Given the description of an element on the screen output the (x, y) to click on. 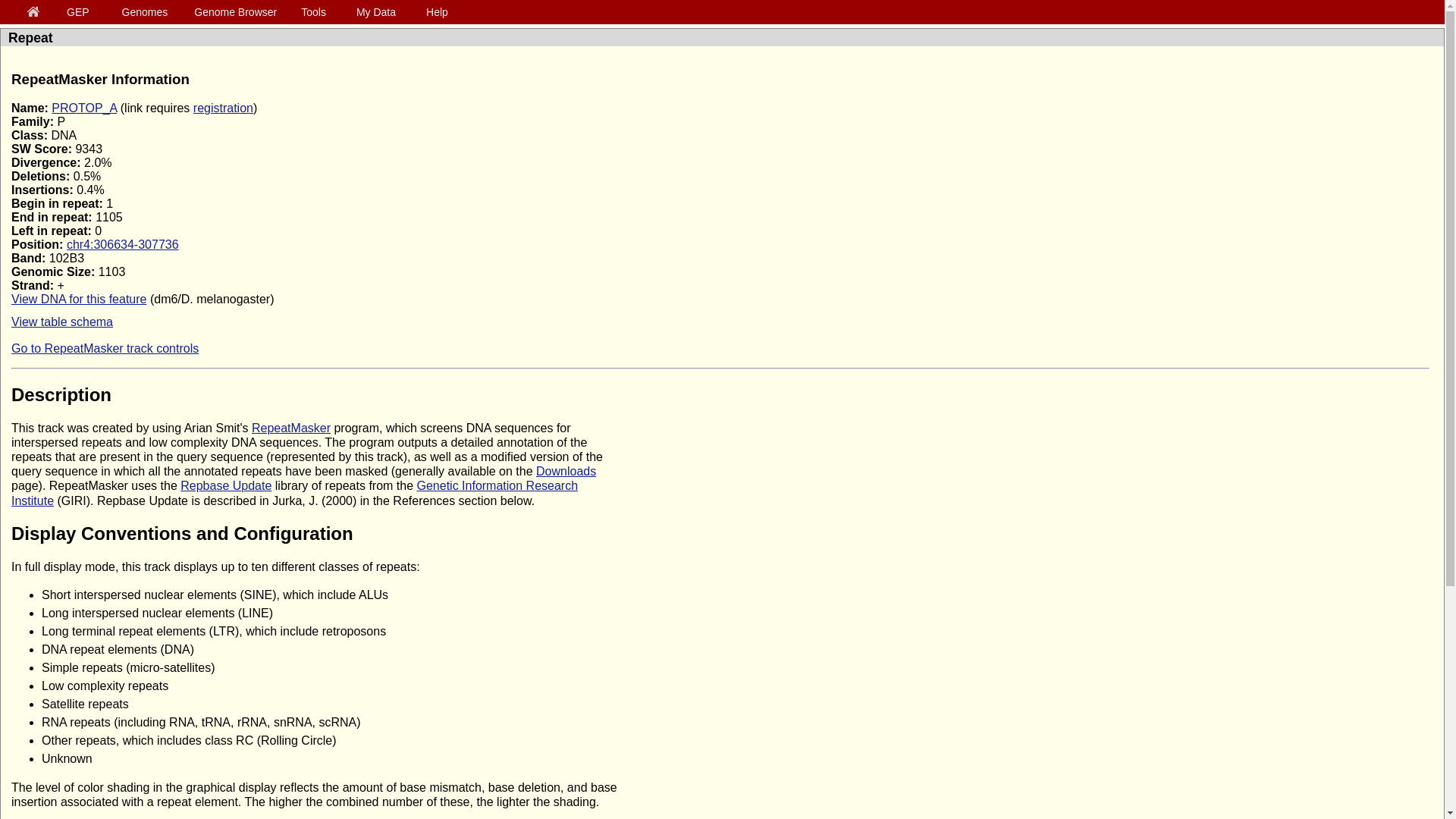
View table schema (62, 321)
Downloads (565, 471)
Open table schema in new window (62, 321)
Home (36, 12)
registration (223, 107)
Genomes (147, 11)
RepeatMasker (290, 427)
View DNA for this feature (79, 298)
Genetic Information Research Institute (294, 492)
Go to RepeatMasker track controls (104, 348)
chr4:306634-307736 (122, 244)
Repbase Update (225, 485)
Genome Browser (237, 11)
